Given the description of an element on the screen output the (x, y) to click on. 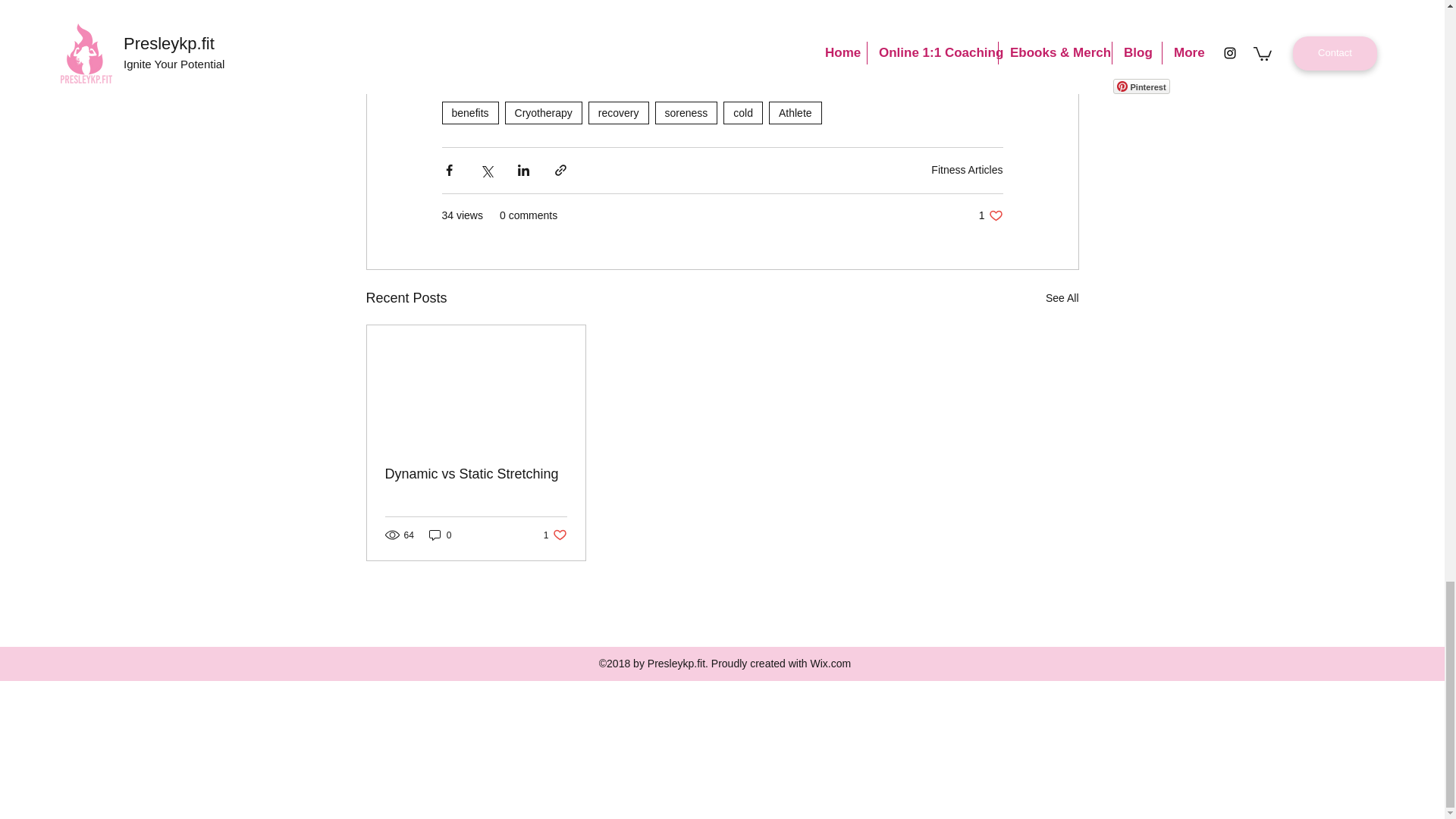
Cryotherapy (543, 112)
benefits (469, 112)
Dynamic vs Static Stretching (476, 474)
soreness (686, 112)
Fitness Articles (967, 169)
See All (555, 534)
recovery (990, 215)
cold (1061, 298)
0 (618, 112)
Athlete (742, 112)
